Given the description of an element on the screen output the (x, y) to click on. 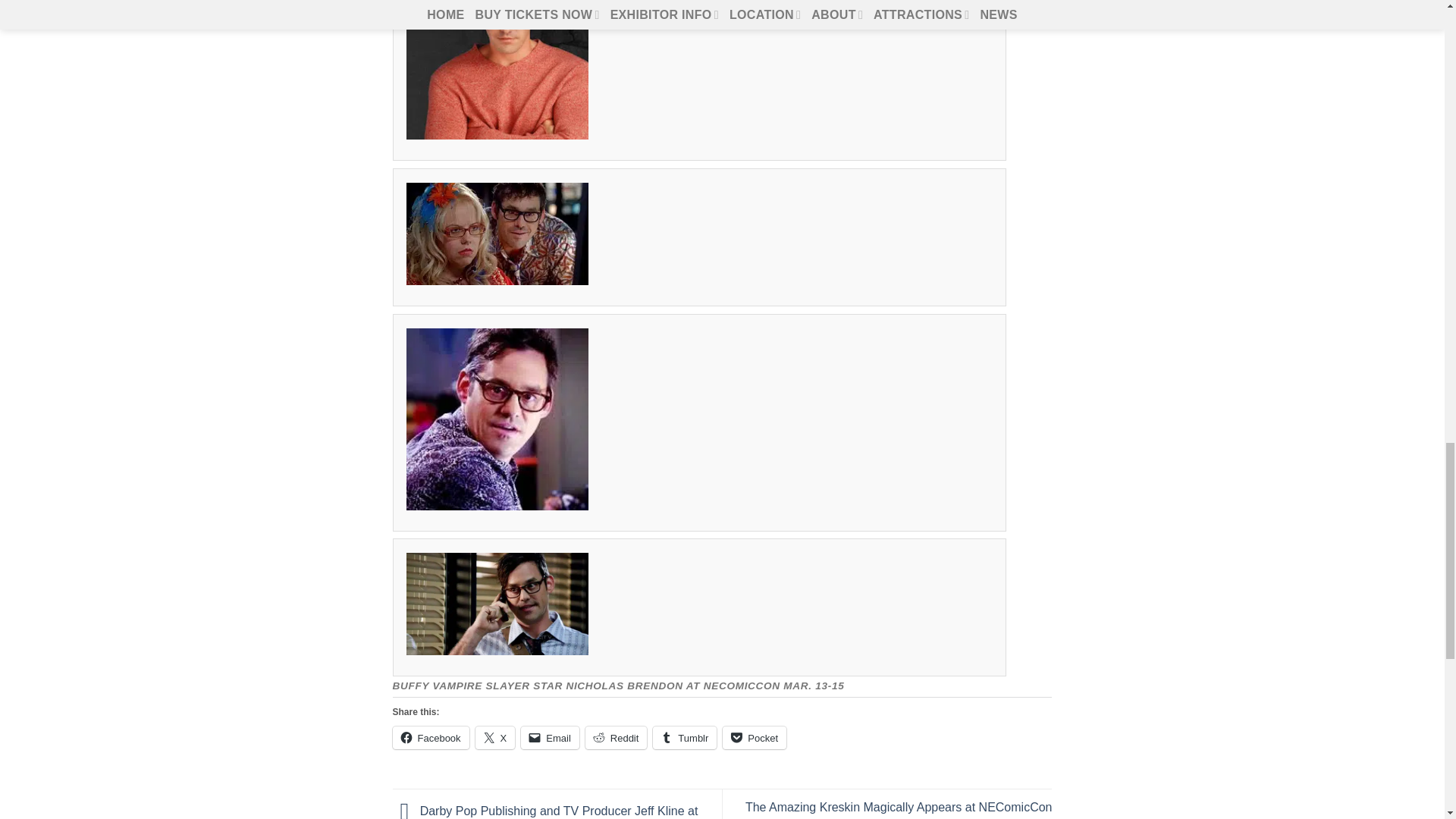
Click to share on Facebook (430, 737)
Click to share on X (495, 737)
Click to share on Reddit (616, 737)
Click to share on Pocket (754, 737)
Click to email a link to a friend (550, 737)
Click to share on Tumblr (684, 737)
